Given the description of an element on the screen output the (x, y) to click on. 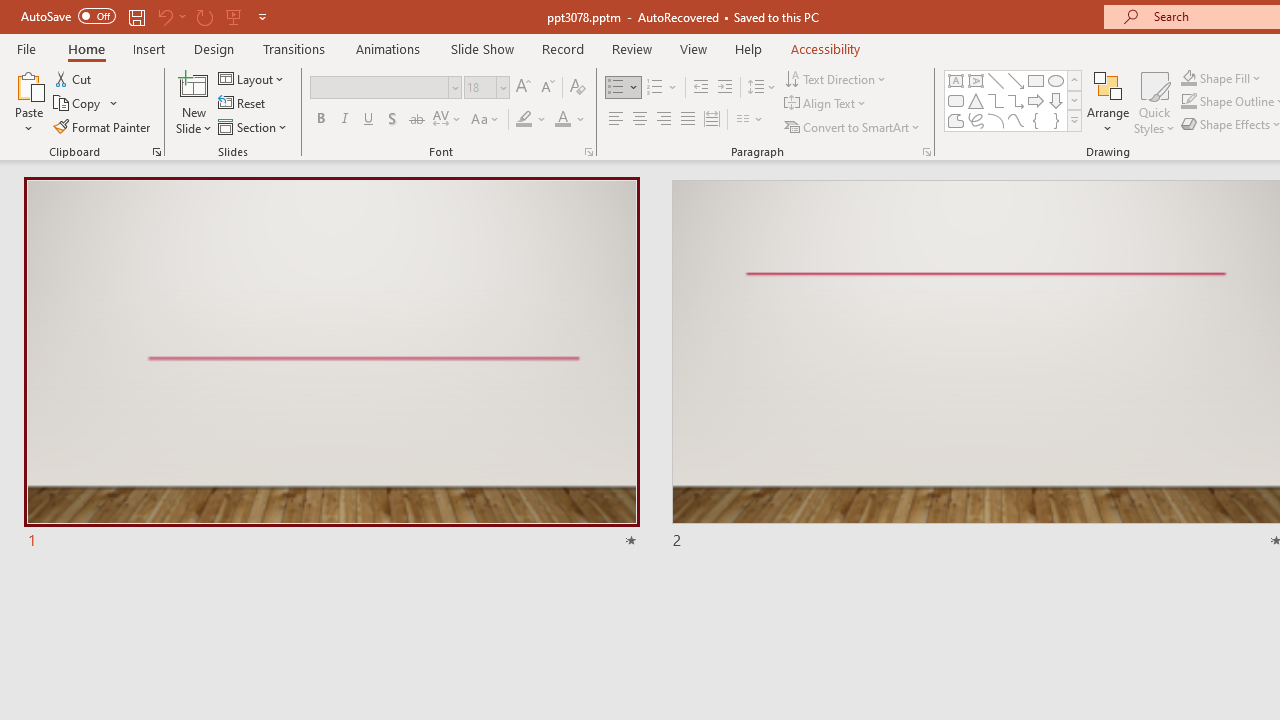
Increase Indent (725, 87)
Distributed (712, 119)
Cut (73, 78)
Paragraph... (926, 151)
Justify (687, 119)
Connector: Elbow (995, 100)
Font... (588, 151)
Font Color Red (562, 119)
Quick Styles (1154, 102)
